Given the description of an element on the screen output the (x, y) to click on. 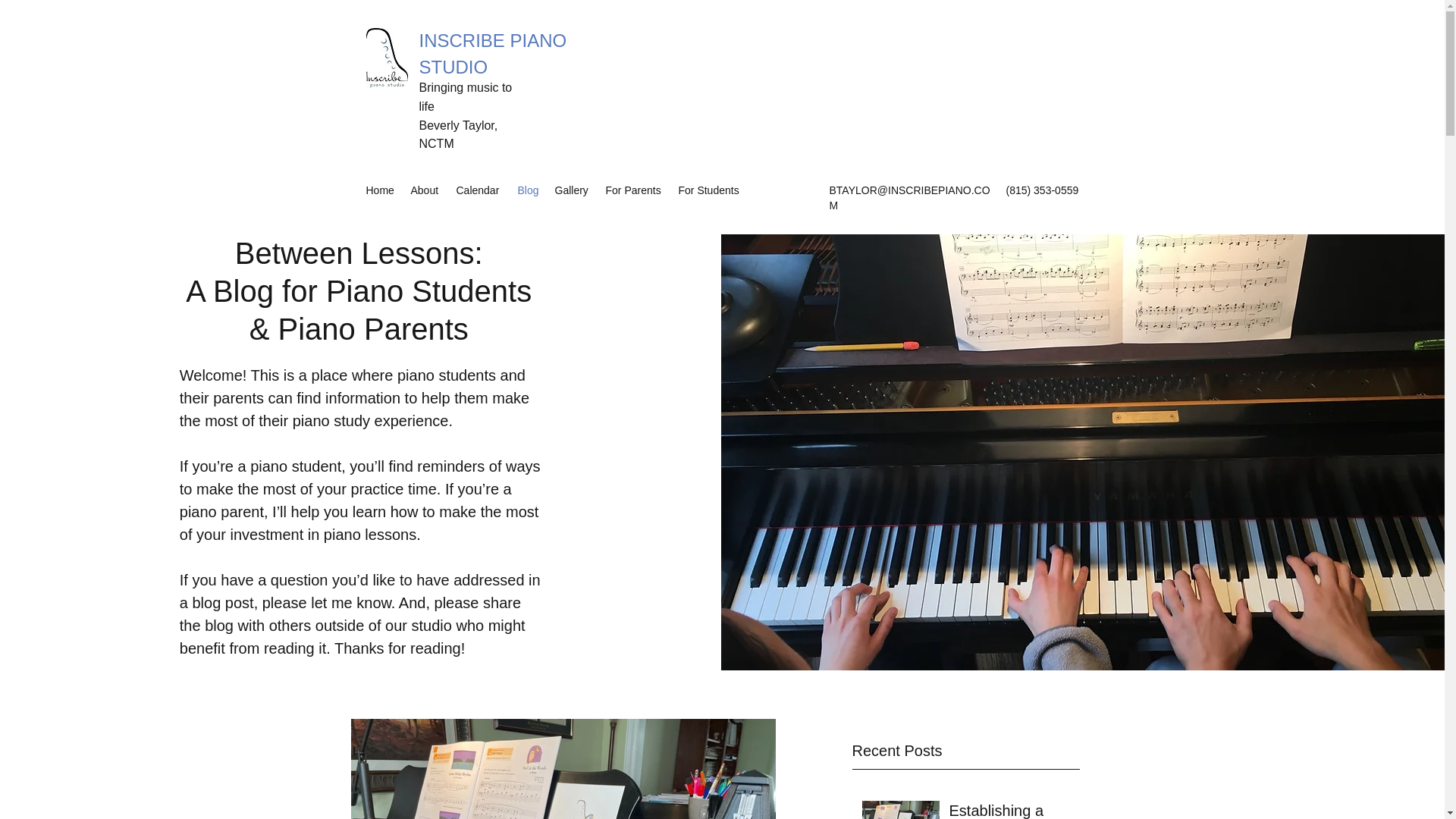
Blog (528, 190)
Gallery (572, 190)
Establishing a Practice Habit, Part 3: Make It Easy (1009, 809)
About (425, 190)
For Parents (632, 190)
For Students (709, 190)
Calendar (479, 190)
Home (380, 190)
